Given the description of an element on the screen output the (x, y) to click on. 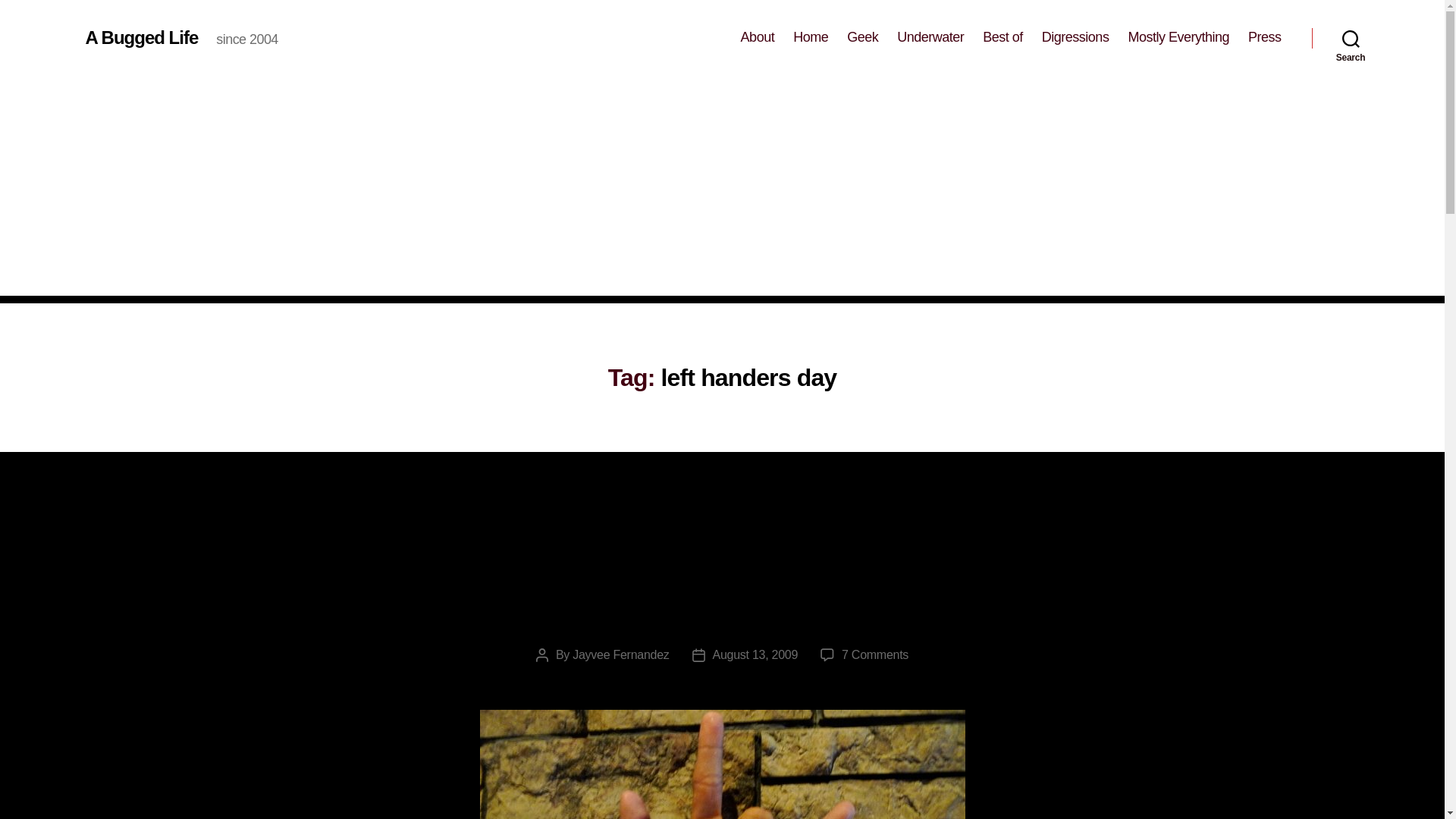
Geek (862, 37)
About (757, 37)
August 13, 2009 (755, 654)
Digressions (1075, 37)
Home (810, 37)
Best of (1002, 37)
A Bugged Life (141, 37)
Underwater (929, 37)
Celebrating my right to be left handed! (874, 654)
Search (721, 567)
Jayvee Fernandez (1350, 37)
Press (620, 654)
Mostly Everything (1264, 37)
